Given the description of an element on the screen output the (x, y) to click on. 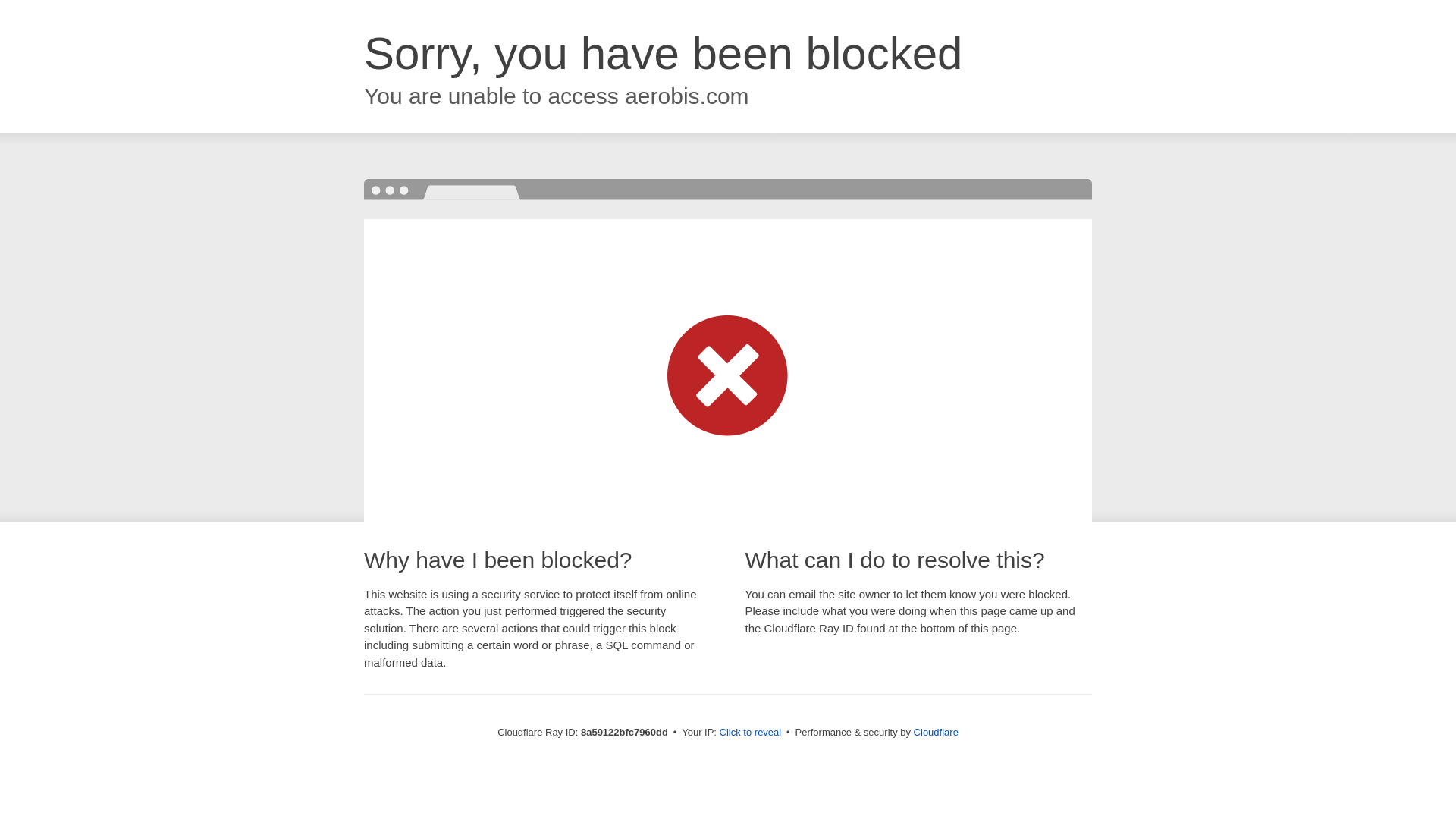
Cloudflare (936, 731)
Click to reveal (750, 732)
